Given the description of an element on the screen output the (x, y) to click on. 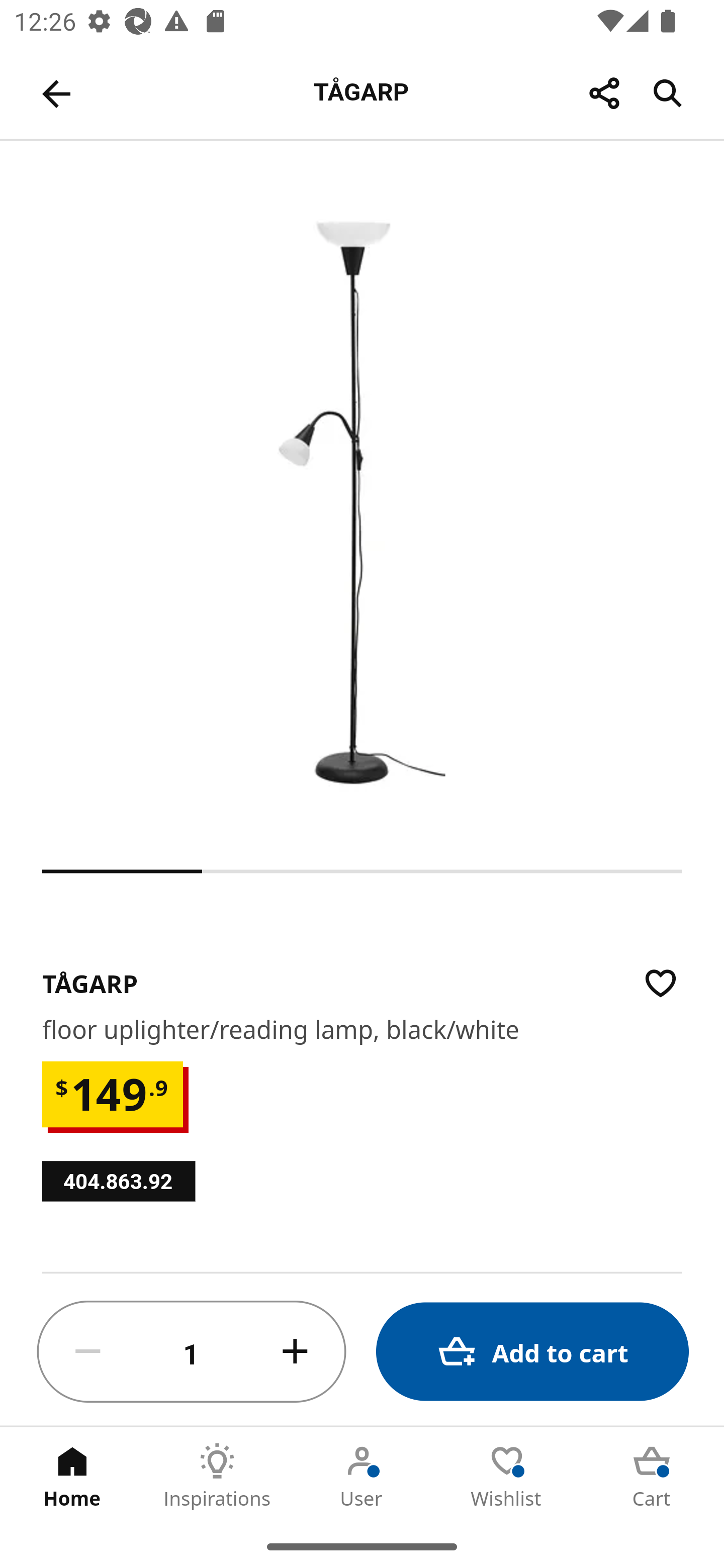
Add to cart (531, 1352)
1 (191, 1352)
Home
Tab 1 of 5 (72, 1476)
Inspirations
Tab 2 of 5 (216, 1476)
User
Tab 3 of 5 (361, 1476)
Wishlist
Tab 4 of 5 (506, 1476)
Cart
Tab 5 of 5 (651, 1476)
